Given the description of an element on the screen output the (x, y) to click on. 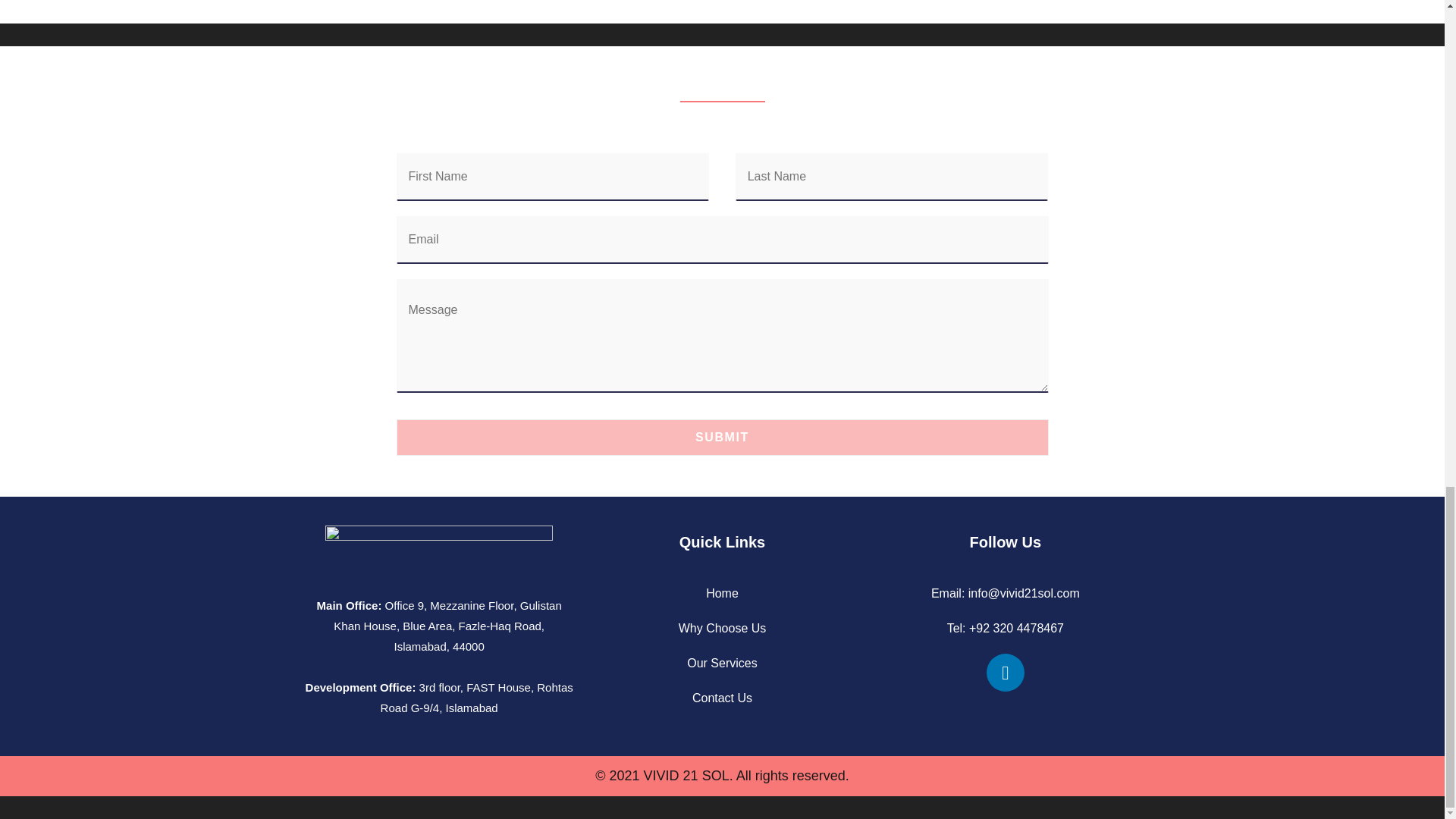
Our Services (722, 662)
Contact Us (722, 697)
SUBMIT (722, 437)
Home (722, 593)
Why Choose Us (722, 627)
